Given the description of an element on the screen output the (x, y) to click on. 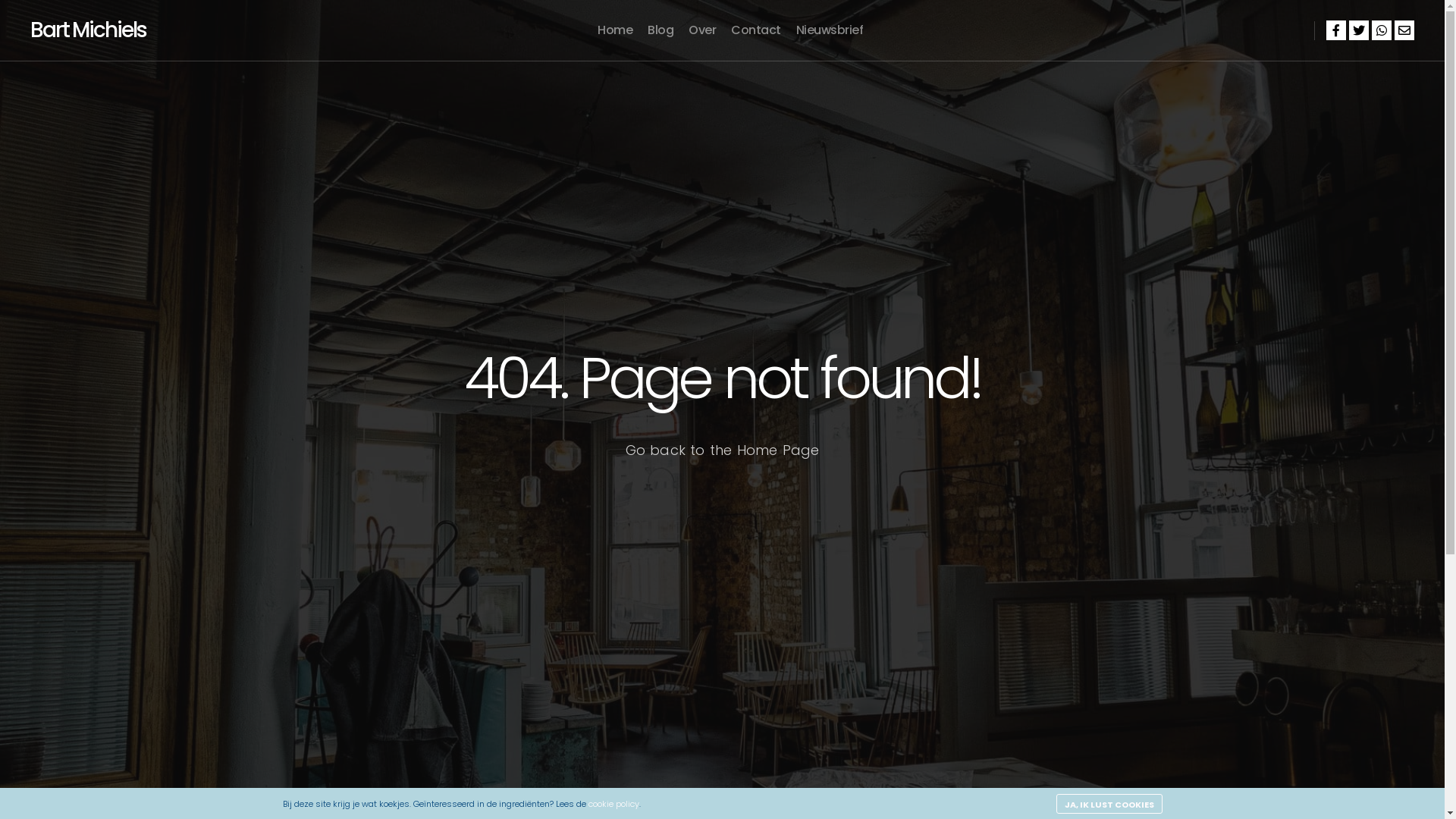
cookie policy Element type: text (613, 803)
Whatsapp Element type: hover (1381, 30)
Home Element type: text (614, 30)
Over Element type: text (701, 30)
Contact Element type: text (755, 30)
Facebook Element type: hover (1336, 30)
Nieuwsbrief Element type: text (829, 30)
E-mail Element type: hover (1404, 30)
Bart Michiels Element type: text (88, 30)
Twitter Element type: hover (1358, 30)
Blog Element type: text (660, 30)
